Given the description of an element on the screen output the (x, y) to click on. 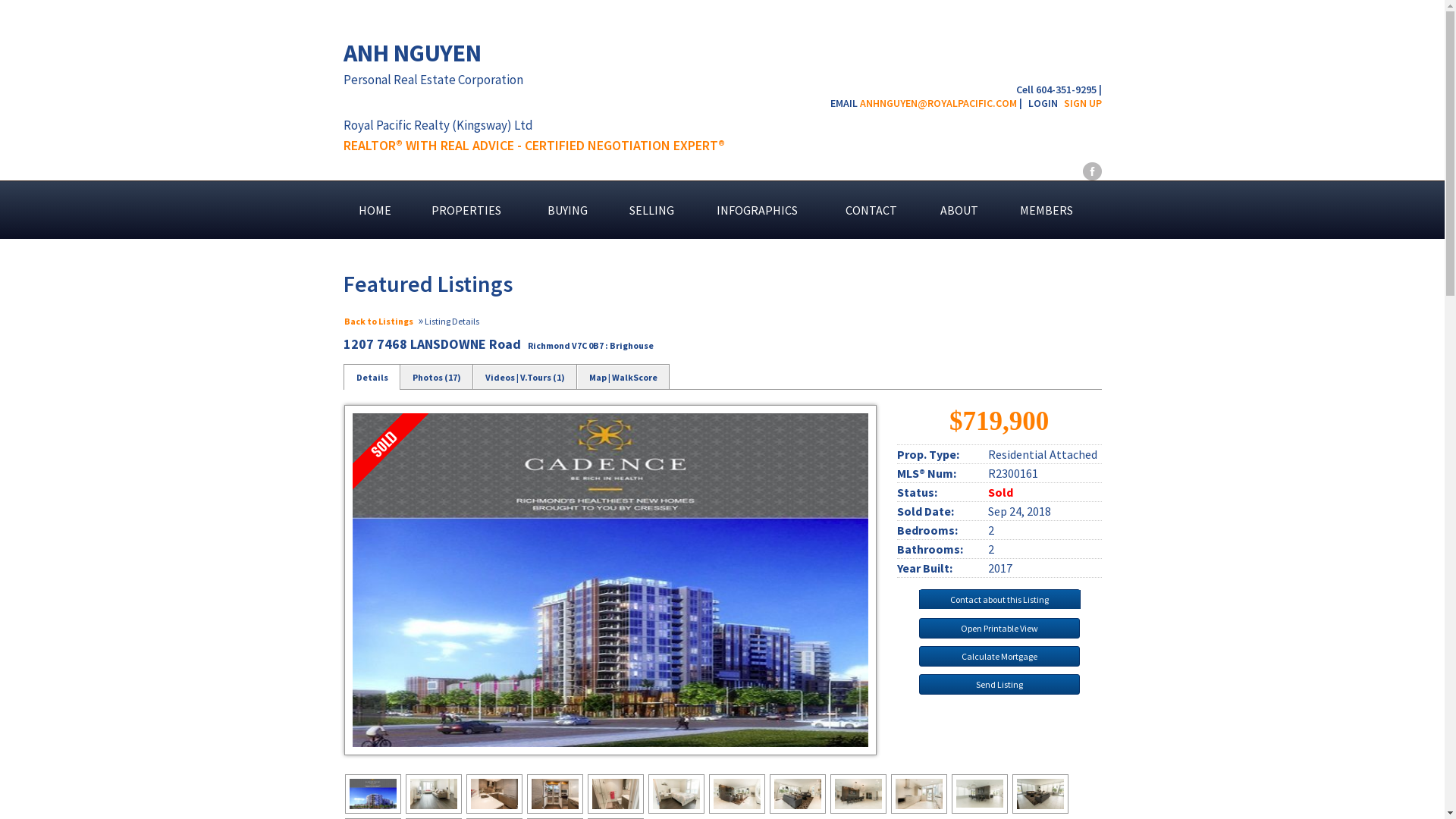
Open Printable View Element type: text (999, 628)
Videos | V.Tours (1) Element type: text (524, 376)
Contact about this Listing Element type: text (999, 597)
PROPERTIES Element type: text (474, 209)
SELLING Element type: text (657, 209)
Map | WalkScore Element type: text (622, 376)
CONTACT Element type: text (877, 209)
Back to Listings Element type: text (378, 320)
MEMBERS Element type: text (1052, 209)
LOGIN Element type: text (1042, 102)
Photos (17) Element type: text (436, 376)
BUYING Element type: text (573, 209)
Send Listing Element type: text (999, 684)
Calculate Mortgage Element type: text (999, 656)
HOME Element type: text (378, 209)
Details Element type: text (371, 376)
ANHNGUYEN@ROYALPACIFIC.COM Element type: text (937, 102)
SIGN UP Element type: text (1082, 102)
ABOUT Element type: text (964, 209)
INFOGRAPHICS Element type: text (766, 209)
